Given the description of an element on the screen output the (x, y) to click on. 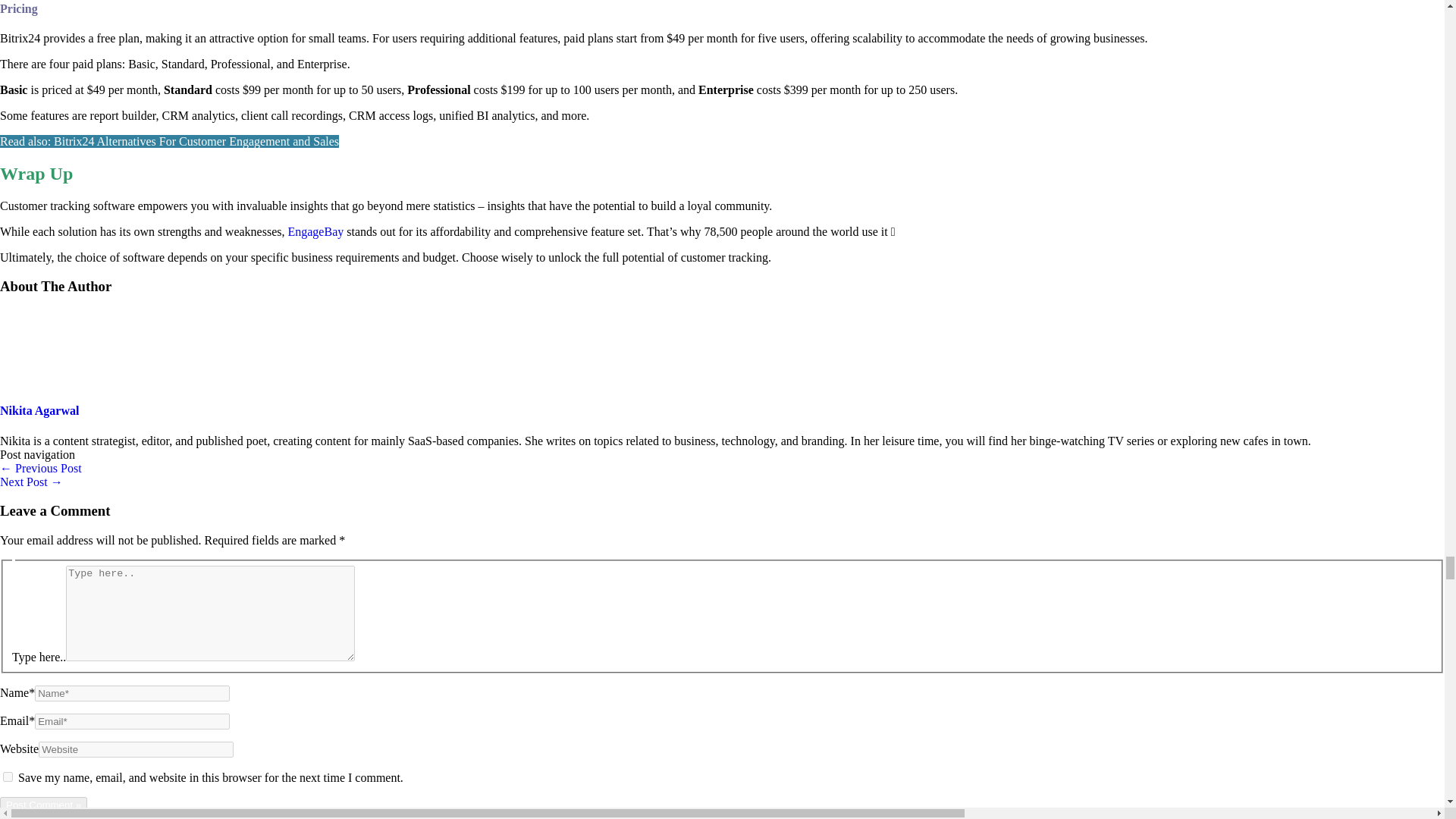
yes (7, 777)
